Given the description of an element on the screen output the (x, y) to click on. 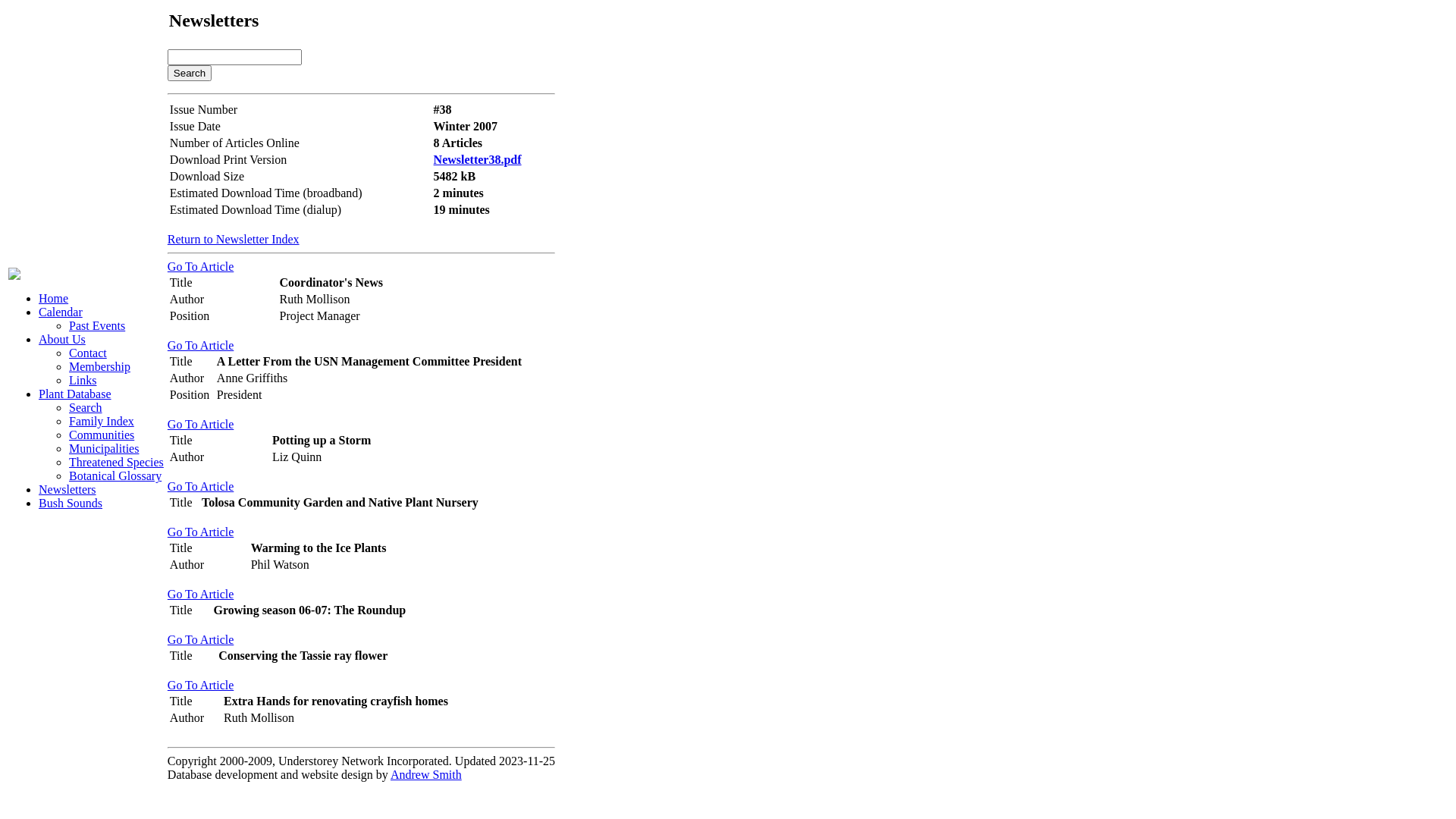
Threatened Species Element type: text (116, 461)
Municipalities Element type: text (103, 448)
Plant Database Element type: text (74, 393)
Go To Article Element type: text (200, 344)
Go To Article Element type: text (200, 531)
Past Events Element type: text (97, 325)
Go To Article Element type: text (200, 486)
Links Element type: text (82, 379)
Go To Article Element type: text (200, 639)
Home Element type: text (53, 297)
Newsletters Element type: text (67, 489)
Go To Article Element type: text (200, 266)
Communities Element type: text (101, 434)
Return to Newsletter Index Element type: text (233, 238)
Family Index Element type: text (101, 420)
Search Element type: text (85, 407)
Bush Sounds Element type: text (70, 502)
Search Element type: text (189, 73)
Membership Element type: text (99, 366)
Botanical Glossary Element type: text (115, 475)
Go To Article Element type: text (200, 684)
About Us Element type: text (61, 338)
Go To Article Element type: text (200, 593)
Newsletter38.pdf Element type: text (477, 159)
Go To Article Element type: text (200, 423)
Contact Element type: text (87, 352)
Calendar Element type: text (60, 311)
Andrew Smith Element type: text (425, 774)
